Given the description of an element on the screen output the (x, y) to click on. 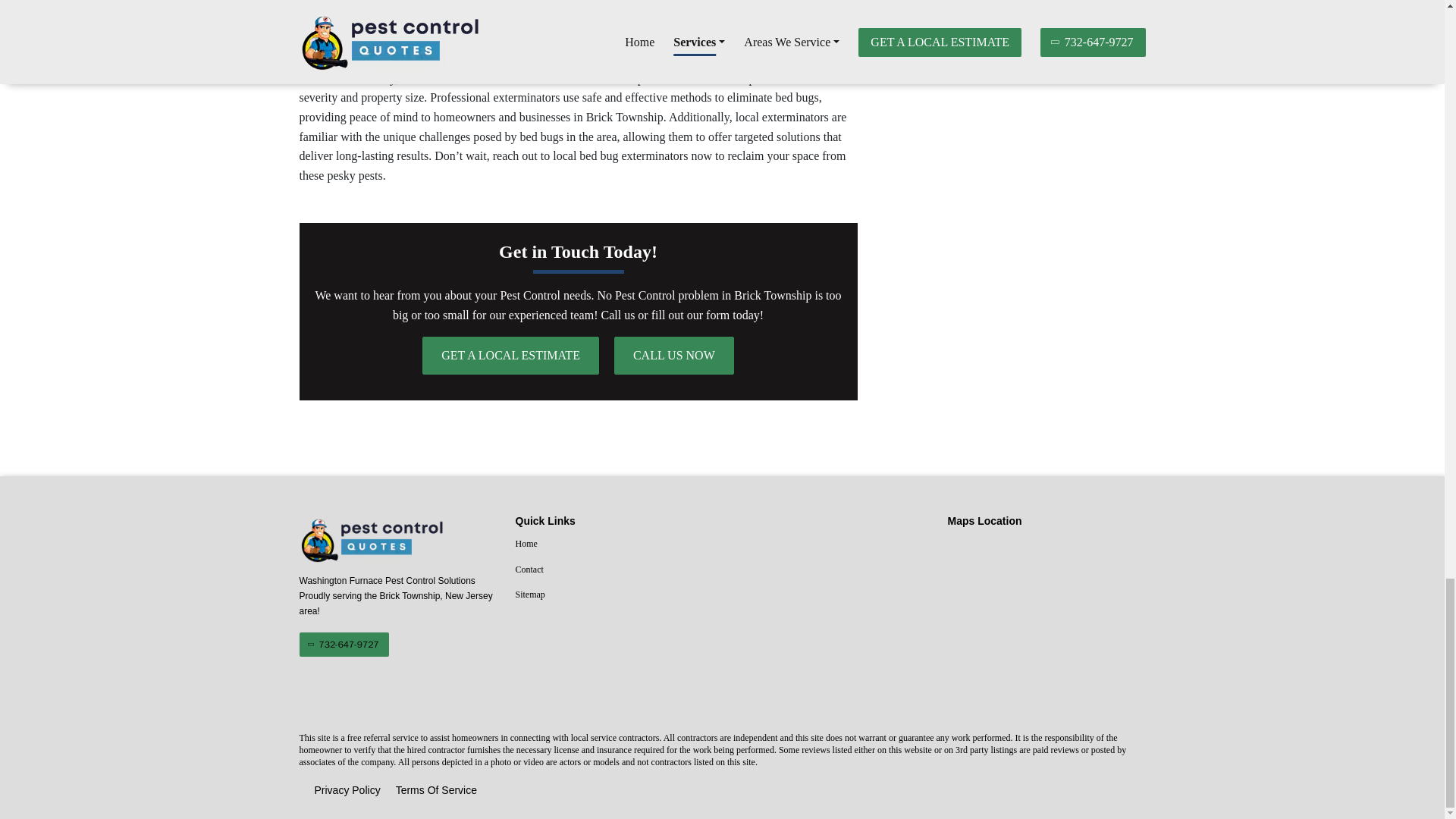
Sitemap (614, 595)
Home (614, 544)
GET A LOCAL ESTIMATE (510, 355)
CALL US NOW (673, 355)
Privacy Policy (347, 790)
Terms Of Service (436, 790)
732-647-9727 (343, 644)
Contact (614, 569)
